Given the description of an element on the screen output the (x, y) to click on. 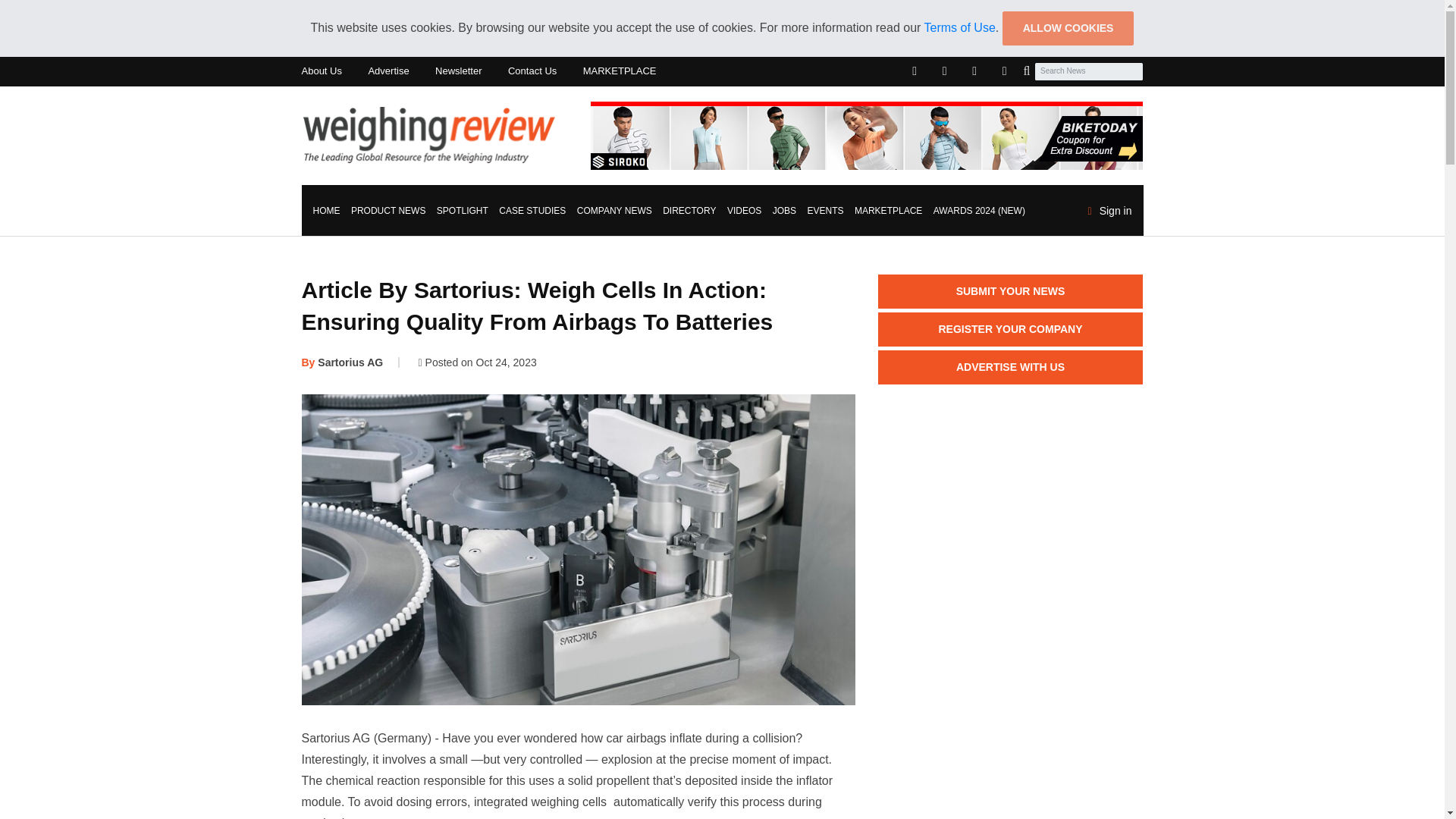
DIRECTORY (689, 210)
youtube (1004, 70)
ALLOW COOKIES (1068, 28)
twitter (944, 70)
COMPANY NEWS (614, 210)
By Sartorius AG (342, 362)
MARKETPLACE (619, 70)
facebook (914, 70)
CASE STUDIES (532, 210)
About Us (321, 70)
PRODUCT NEWS (388, 210)
SPOTLIGHT (462, 210)
Newsletter (458, 70)
Advertise (388, 70)
Sign in (1109, 210)
